Given the description of an element on the screen output the (x, y) to click on. 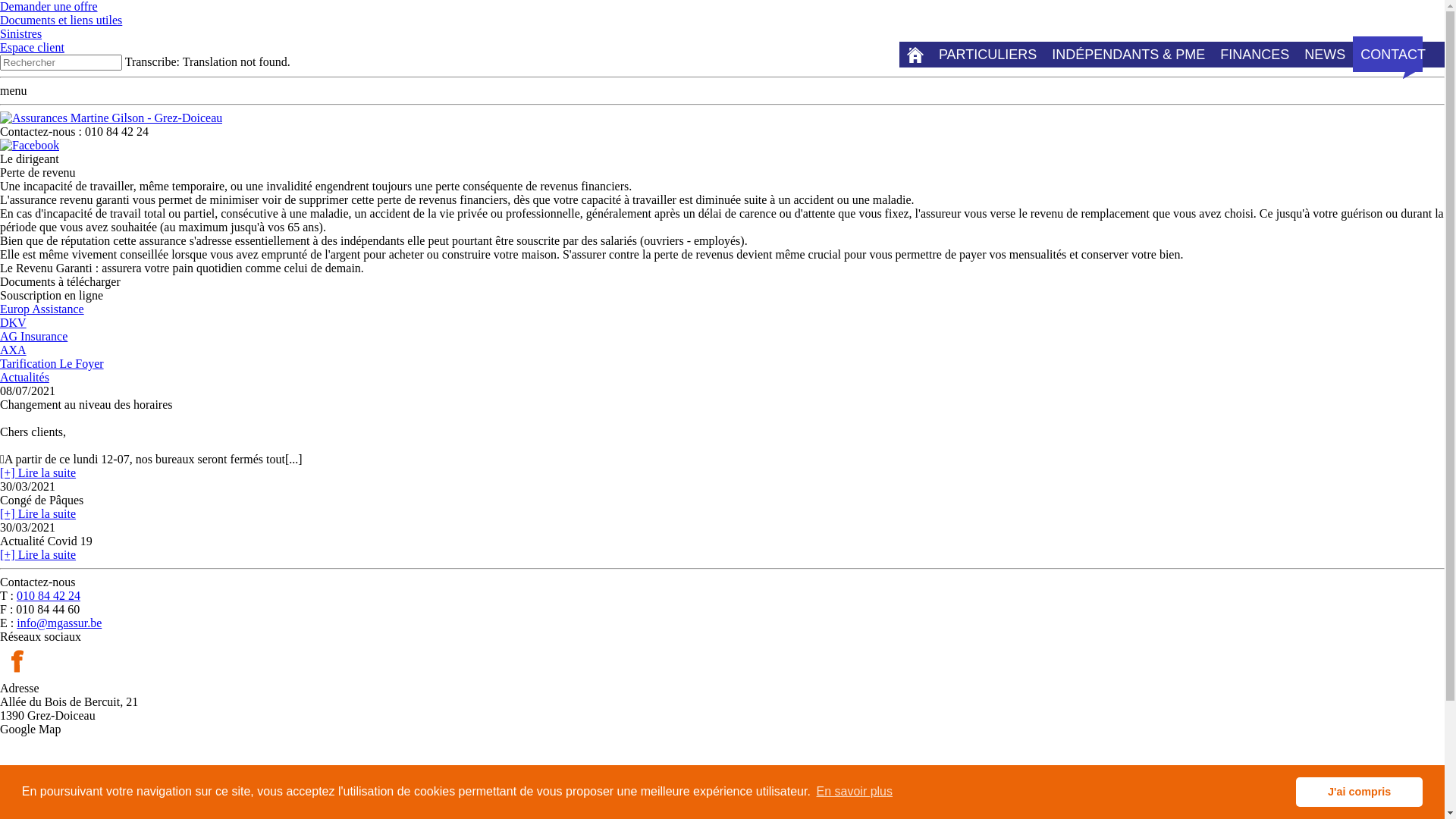
[+] Lire la suite Element type: text (37, 554)
Facebook Element type: hover (17, 674)
Documents et liens utiles Element type: text (61, 19)
DKV Element type: text (13, 322)
CONTACT Element type: text (1392, 60)
Demander une offre Element type: text (48, 6)
AXA Element type: text (13, 349)
En savoir plus Element type: text (853, 791)
[+] Lire la suite Element type: text (37, 513)
AG Insurance Element type: text (33, 335)
[+] Lire la suite Element type: text (37, 472)
Google Map Element type: hover (31, 774)
Sinistres Element type: text (20, 33)
Tarification Le Foyer Element type: text (51, 363)
J'ai compris Element type: text (1358, 791)
Assurances Martine Gilson - Grez-Doiceau  Element type: hover (111, 117)
Europ Assistance Element type: text (42, 308)
NEWS Element type: text (1324, 54)
Facebook Element type: hover (29, 144)
Espace client Element type: text (32, 46)
info@mgassur.be Element type: text (58, 622)
010 84 42 24 Element type: text (48, 595)
